Given the description of an element on the screen output the (x, y) to click on. 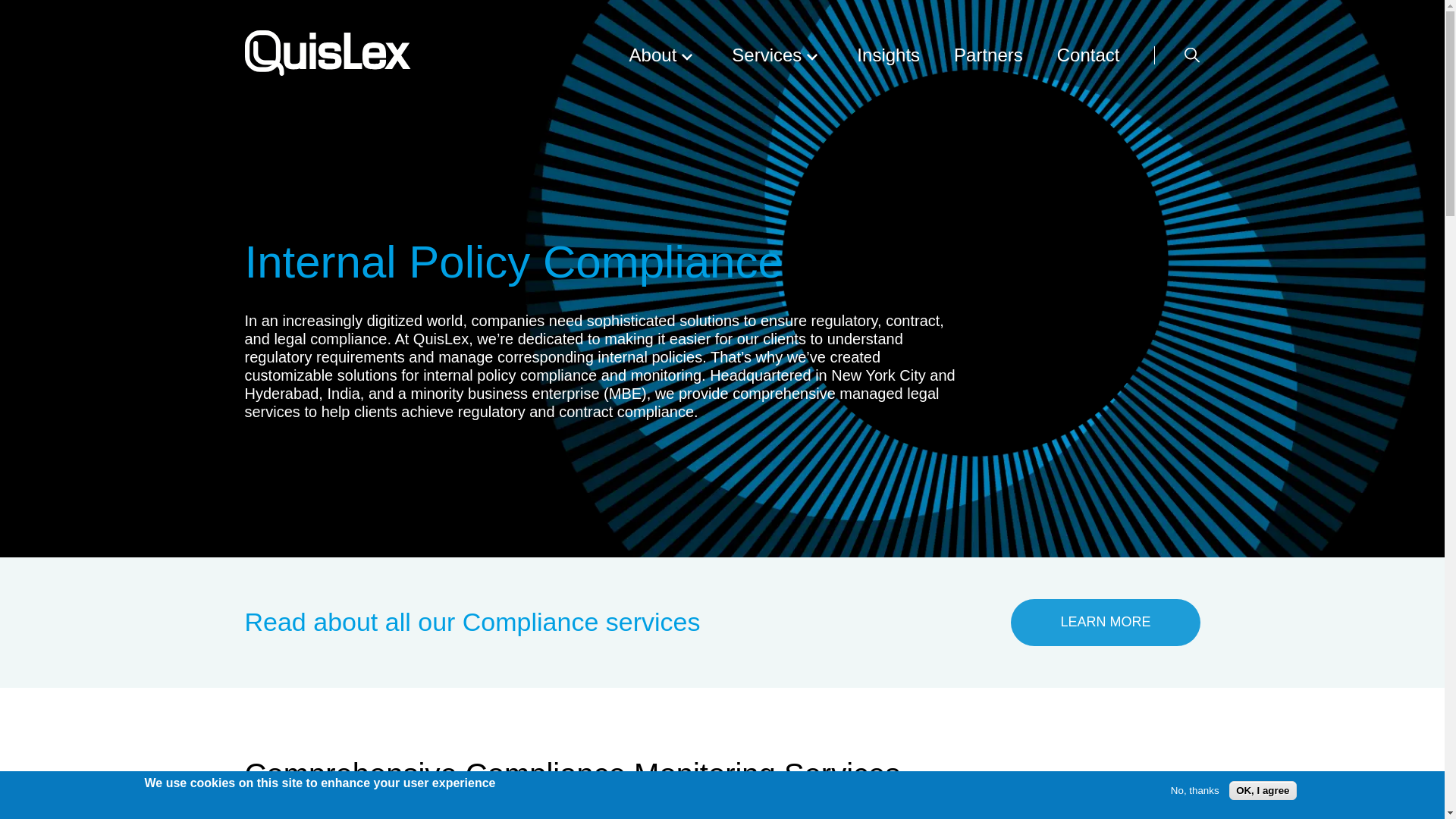
Contact (1088, 54)
About (663, 55)
Partners (988, 54)
LEARN MORE (1104, 622)
Search (1192, 55)
Search (1192, 55)
Services (777, 55)
Insights (888, 54)
